Given the description of an element on the screen output the (x, y) to click on. 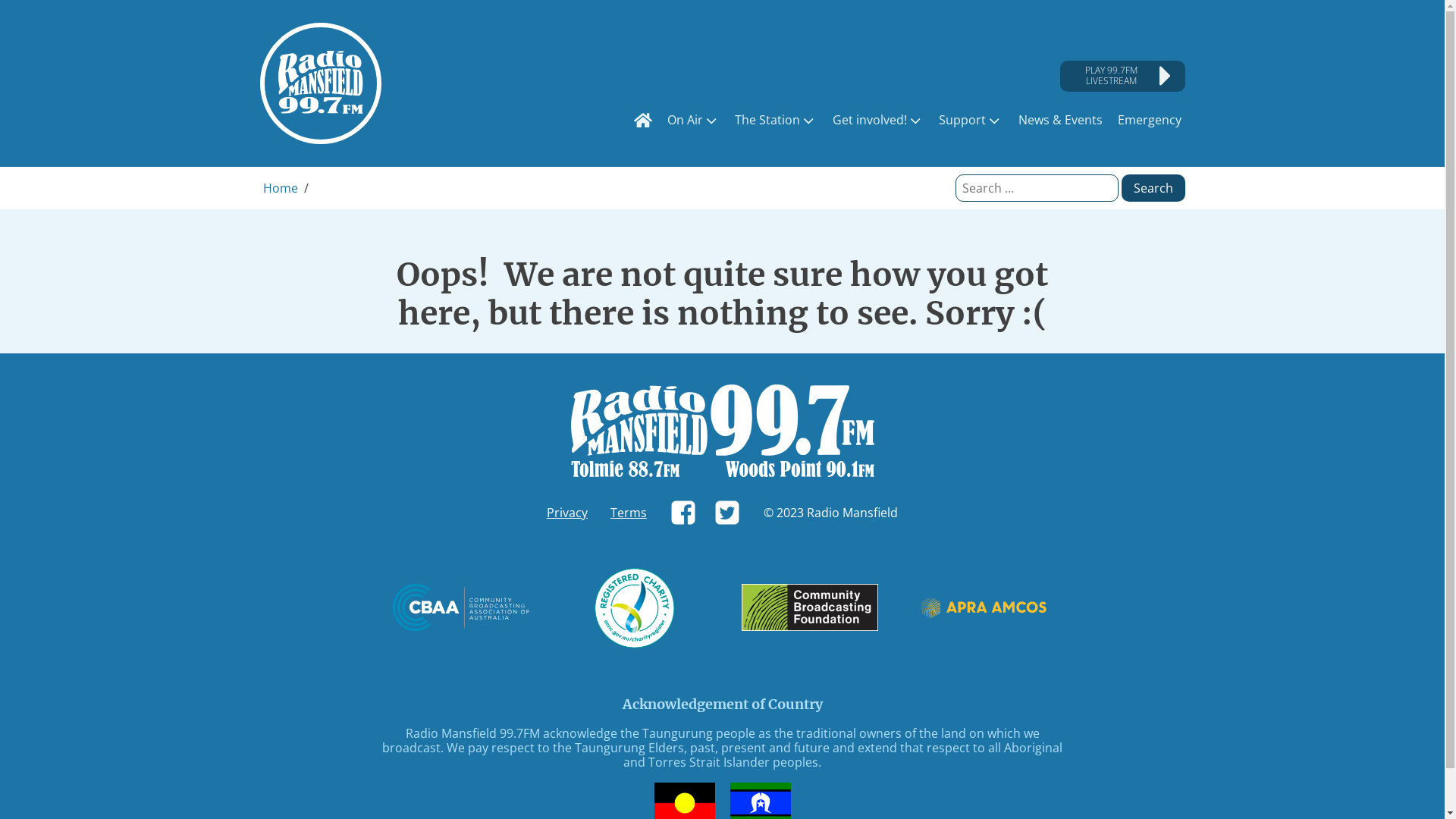
Privacy Element type: text (566, 512)
News & Events Element type: text (1060, 119)
Get involved! Element type: text (877, 120)
PLAY 99.7FM LIVESTREAM Element type: text (1122, 75)
On Air Element type: text (693, 120)
Home Element type: text (279, 187)
Emergency Element type: text (1148, 119)
Search Element type: text (1152, 187)
Support Element type: text (970, 120)
The Station Element type: text (775, 120)
Terms Element type: text (628, 512)
